Given the description of an element on the screen output the (x, y) to click on. 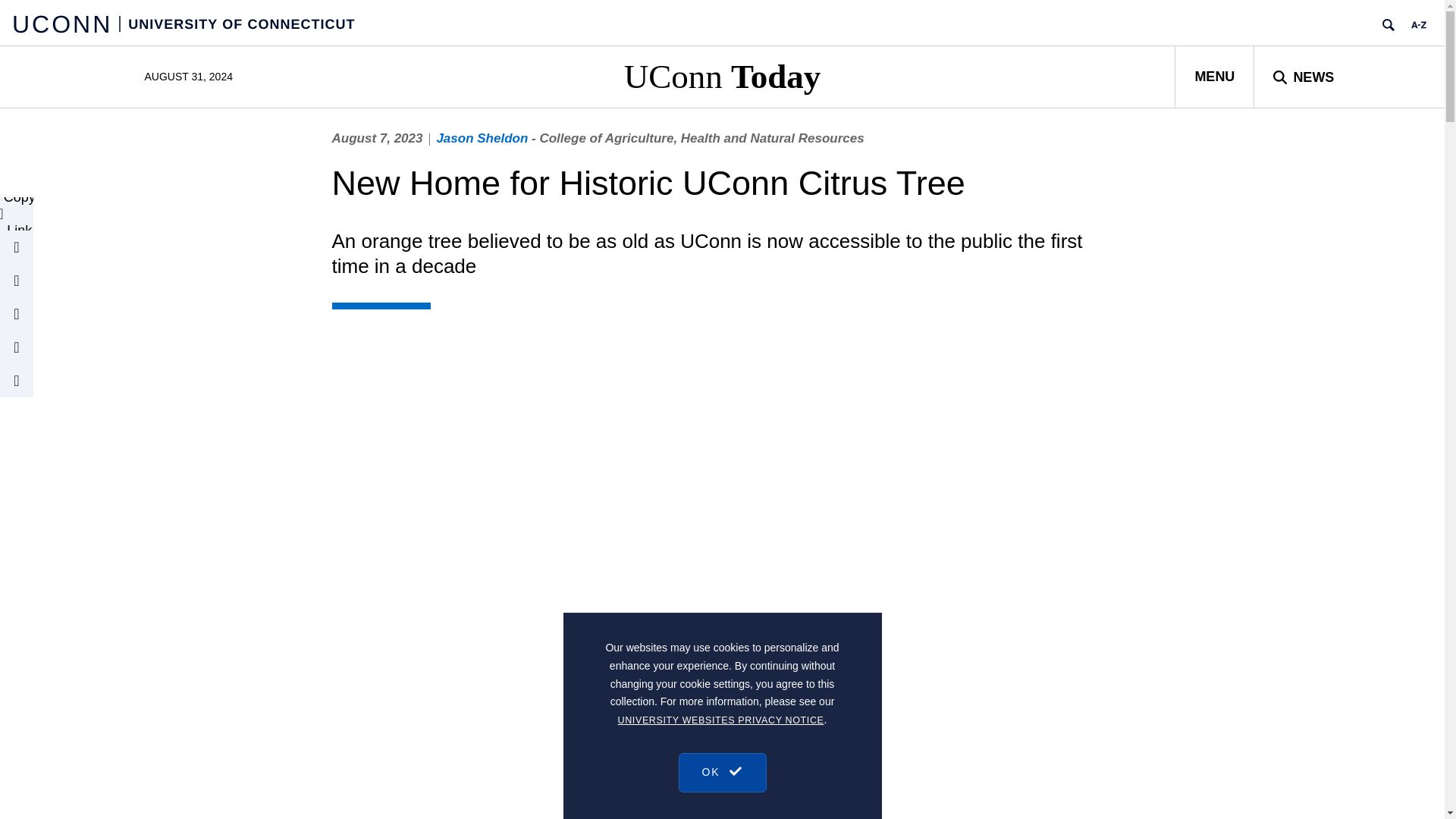
MENU (1213, 76)
Email article (16, 246)
Copy Link (16, 213)
UConn Today (722, 75)
NEWS (1302, 76)
UCONN UNIVERSITY OF CONNECTICUT (183, 22)
Share on Reddit (16, 380)
UConn A to Z Search (1418, 24)
Open Menu (1213, 76)
Share on LinkedIn (16, 313)
